Given the description of an element on the screen output the (x, y) to click on. 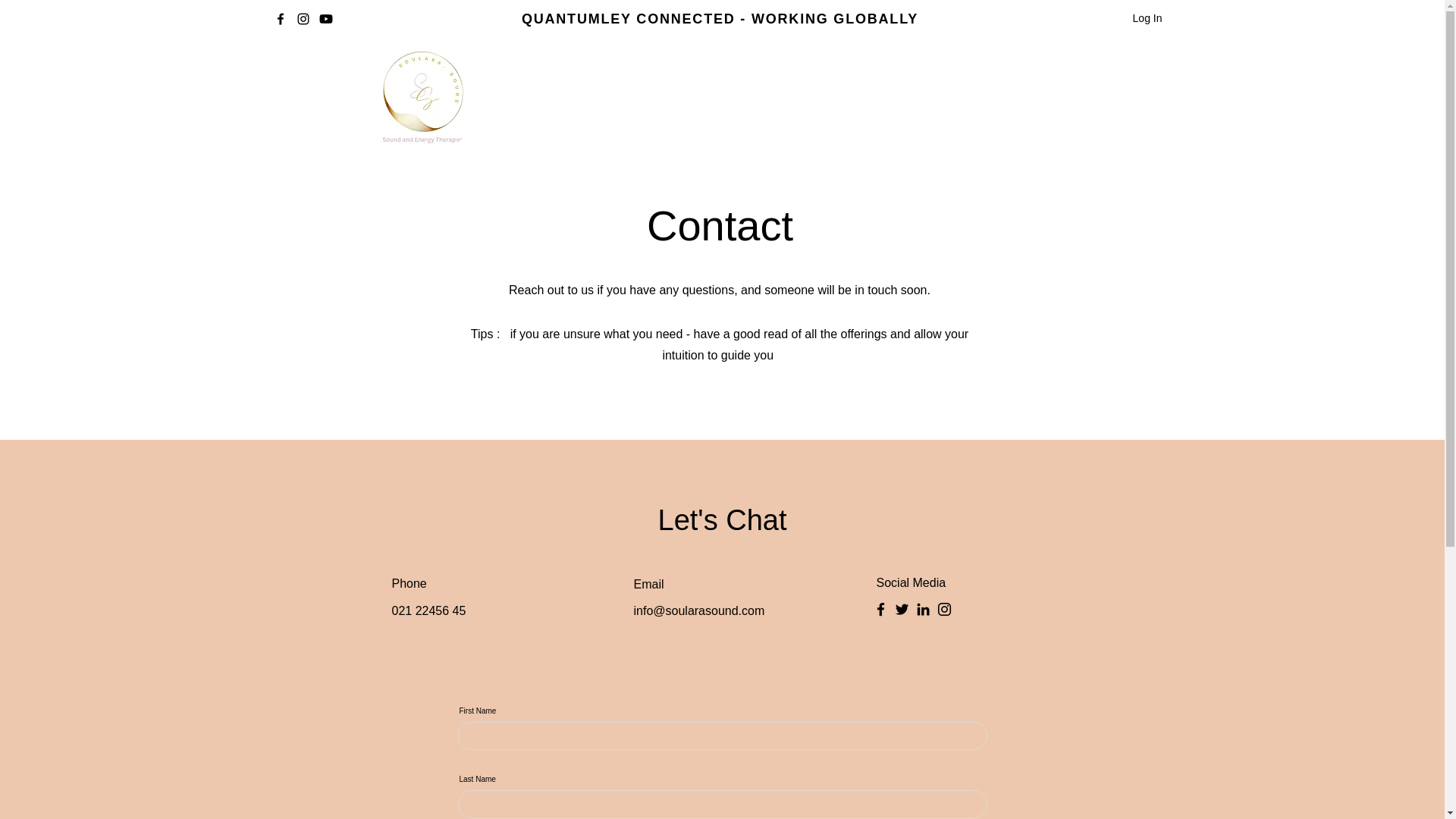
Log In (1147, 18)
